Given the description of an element on the screen output the (x, y) to click on. 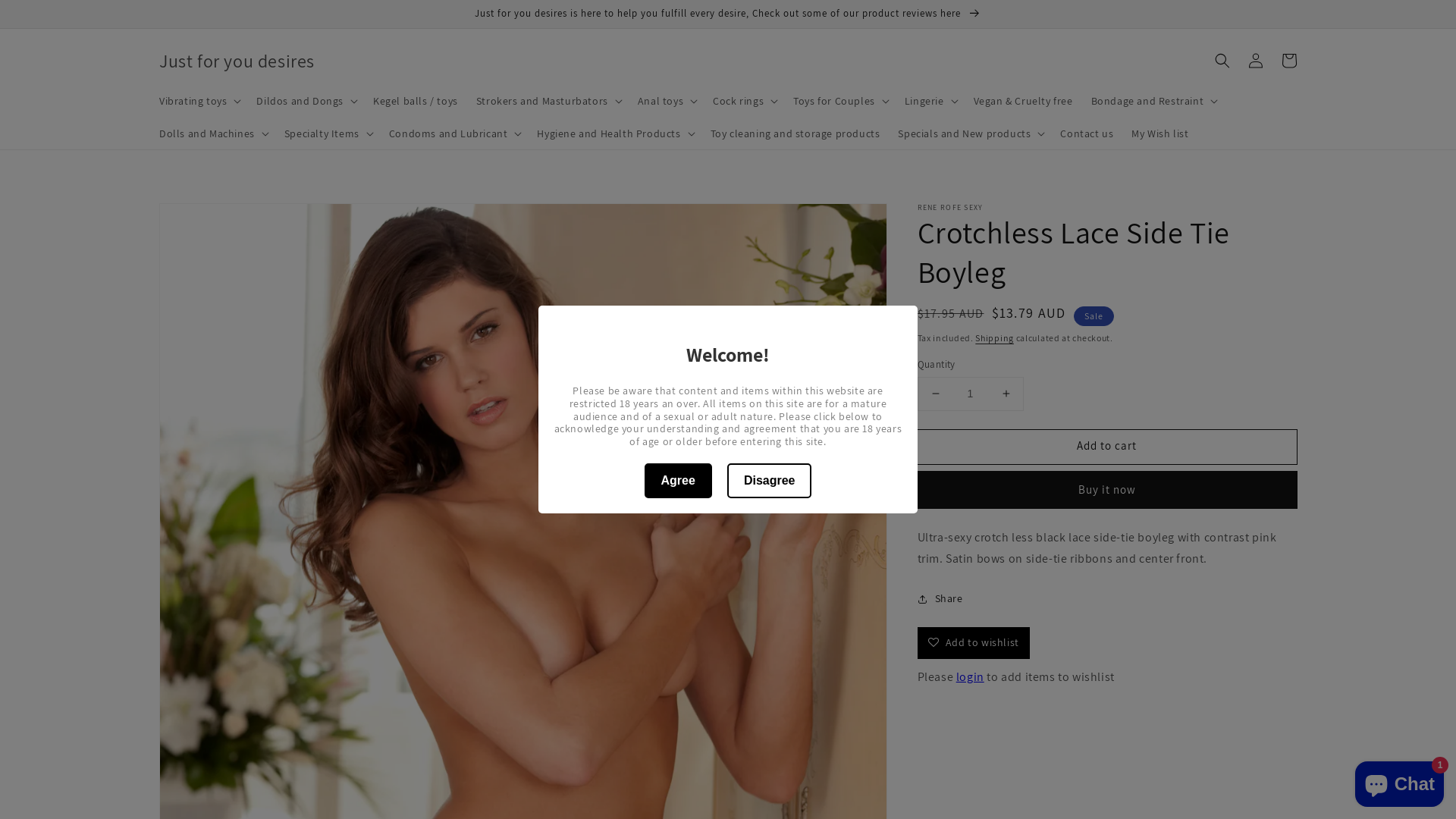
Contact us Element type: text (1086, 133)
Just for you desires Element type: text (236, 60)
Add to cart Element type: text (1106, 446)
Increase quantity for Crotchless Lace Side Tie Boyleg Element type: text (1005, 393)
My Wish list Element type: text (1159, 133)
Skip to product information Element type: text (203, 219)
Decrease quantity for Crotchless Lace Side Tie Boyleg Element type: text (935, 393)
login Element type: text (970, 676)
Cart Element type: text (1288, 60)
Agree Element type: text (678, 480)
Shipping Element type: text (994, 337)
Log in Element type: text (1255, 60)
Vegan & Cruelty free Element type: text (1023, 100)
Disagree Element type: text (769, 480)
Toy cleaning and storage products Element type: text (795, 133)
Kegel balls / toys Element type: text (415, 100)
Buy it now Element type: text (1106, 489)
Shopify online store chat Element type: hover (1399, 780)
